Given the description of an element on the screen output the (x, y) to click on. 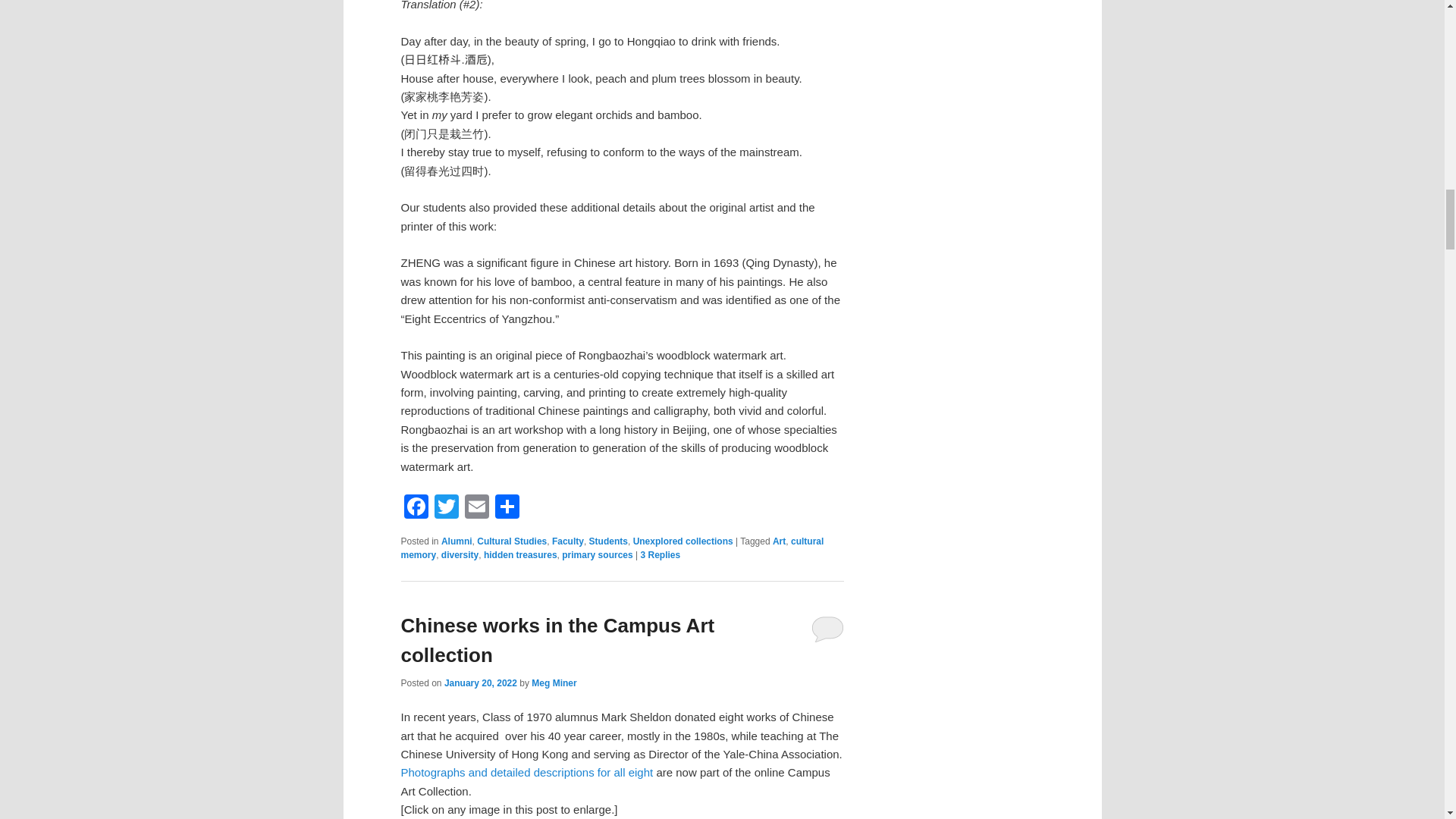
View all posts by Meg Miner (553, 683)
cultural memory (612, 548)
Chinese works in the Campus Art collection (557, 640)
Facebook (415, 508)
hidden treasures (520, 554)
Meg Miner (553, 683)
Alumni (456, 541)
Unexplored collections (683, 541)
Email (476, 508)
Students (608, 541)
Twitter (445, 508)
diversity (460, 554)
3:08 pm (480, 683)
primary sources (596, 554)
Facebook (415, 508)
